Given the description of an element on the screen output the (x, y) to click on. 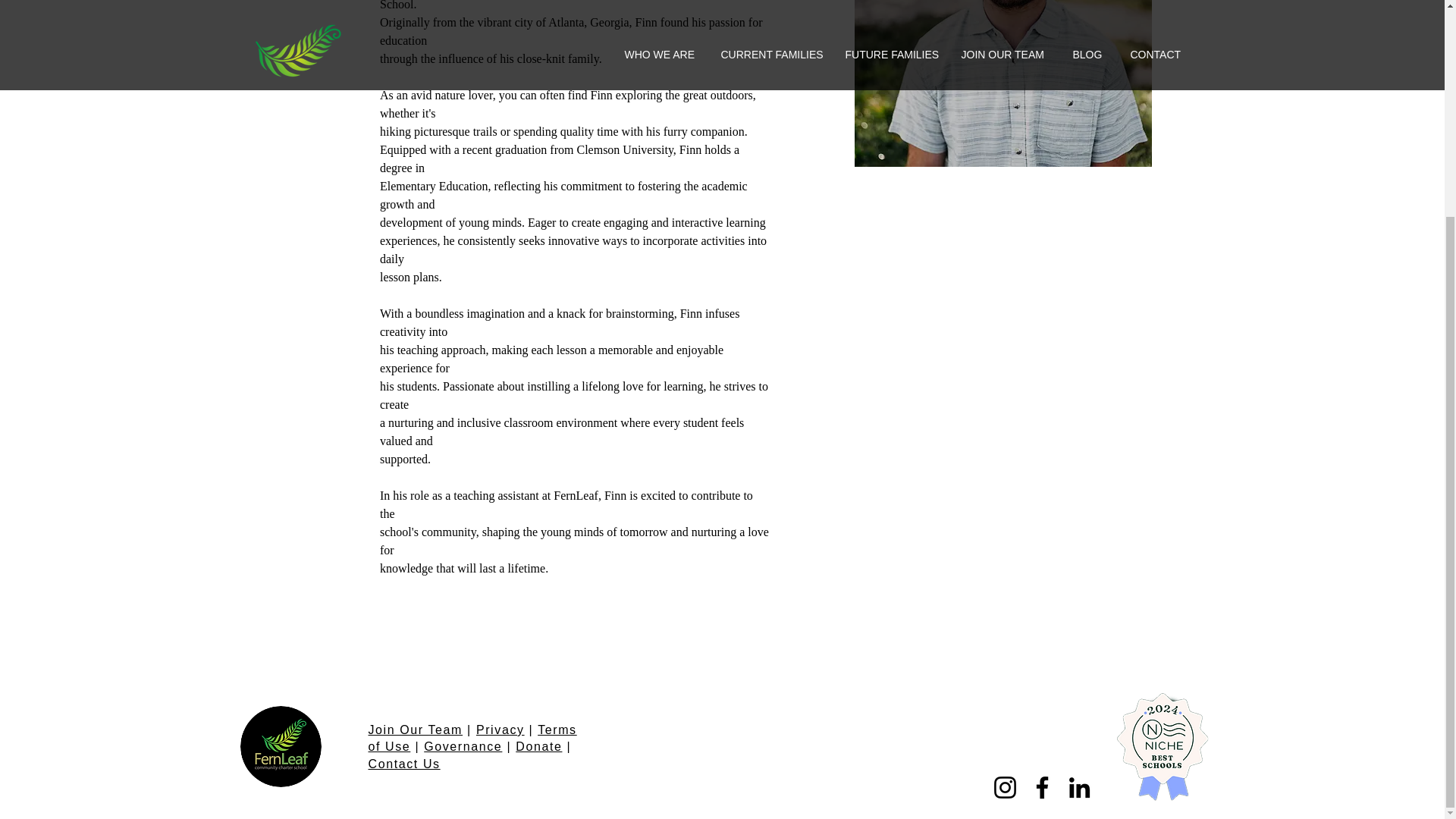
Terms of Use (472, 737)
Finn Hardin FernLeaf Staff 23-24.jpg (1002, 83)
Privacy (500, 729)
Governance (462, 746)
Donate (538, 746)
Join Our Team (415, 729)
Contact Us (404, 763)
